Given the description of an element on the screen output the (x, y) to click on. 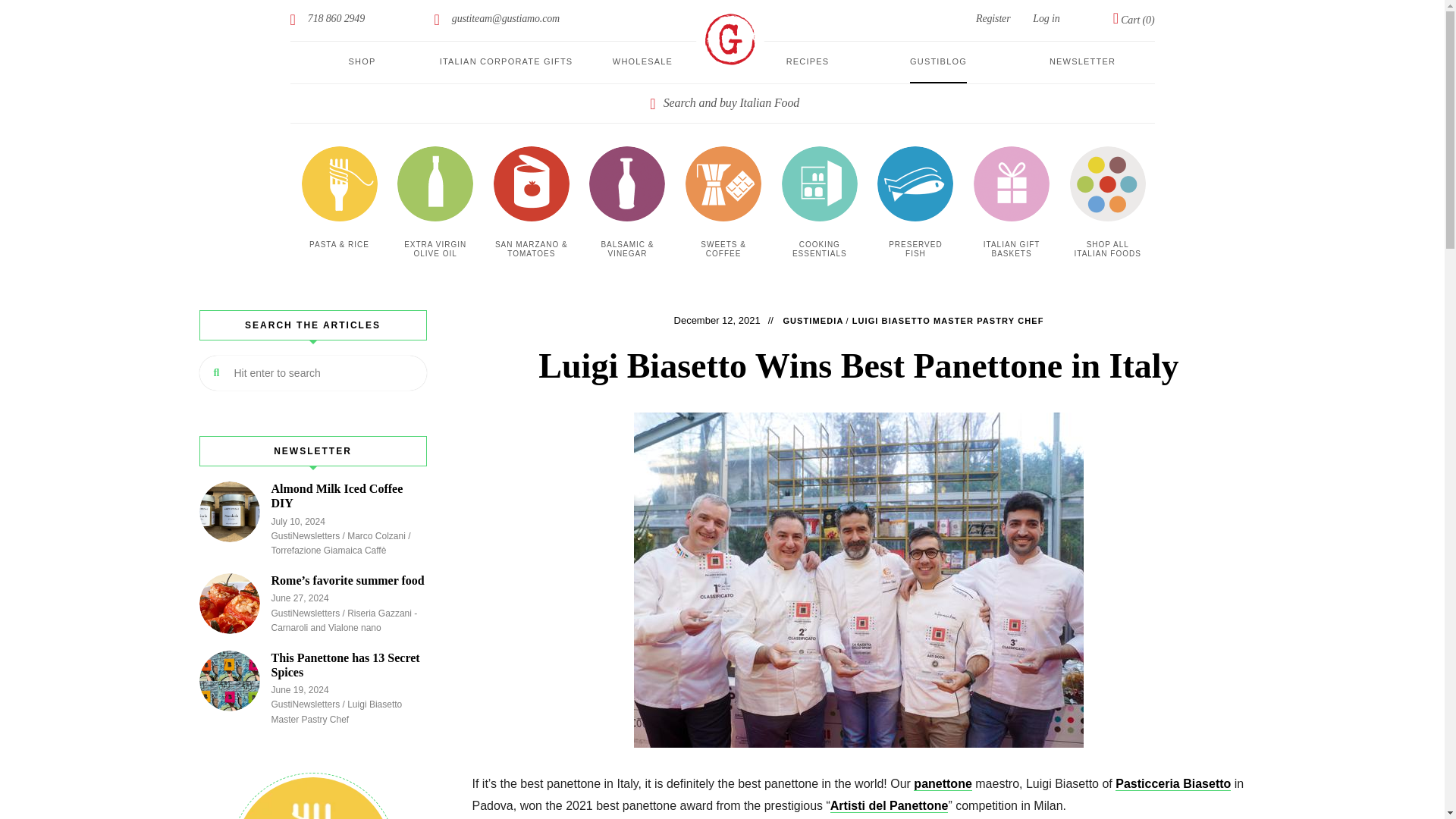
WHOLESALE (642, 62)
Italy's Best Food (730, 39)
718 860 2949 (327, 20)
RECIPES (807, 62)
Search and buy Italian Food (722, 103)
NEWSLETTER (1082, 62)
COOKING ESSENTIALS (819, 250)
ITALIAN CORPORATE GIFTS (506, 62)
GUSTIBLOG (938, 62)
EXTRA VIRGIN OLIVE OIL (435, 250)
